Given the description of an element on the screen output the (x, y) to click on. 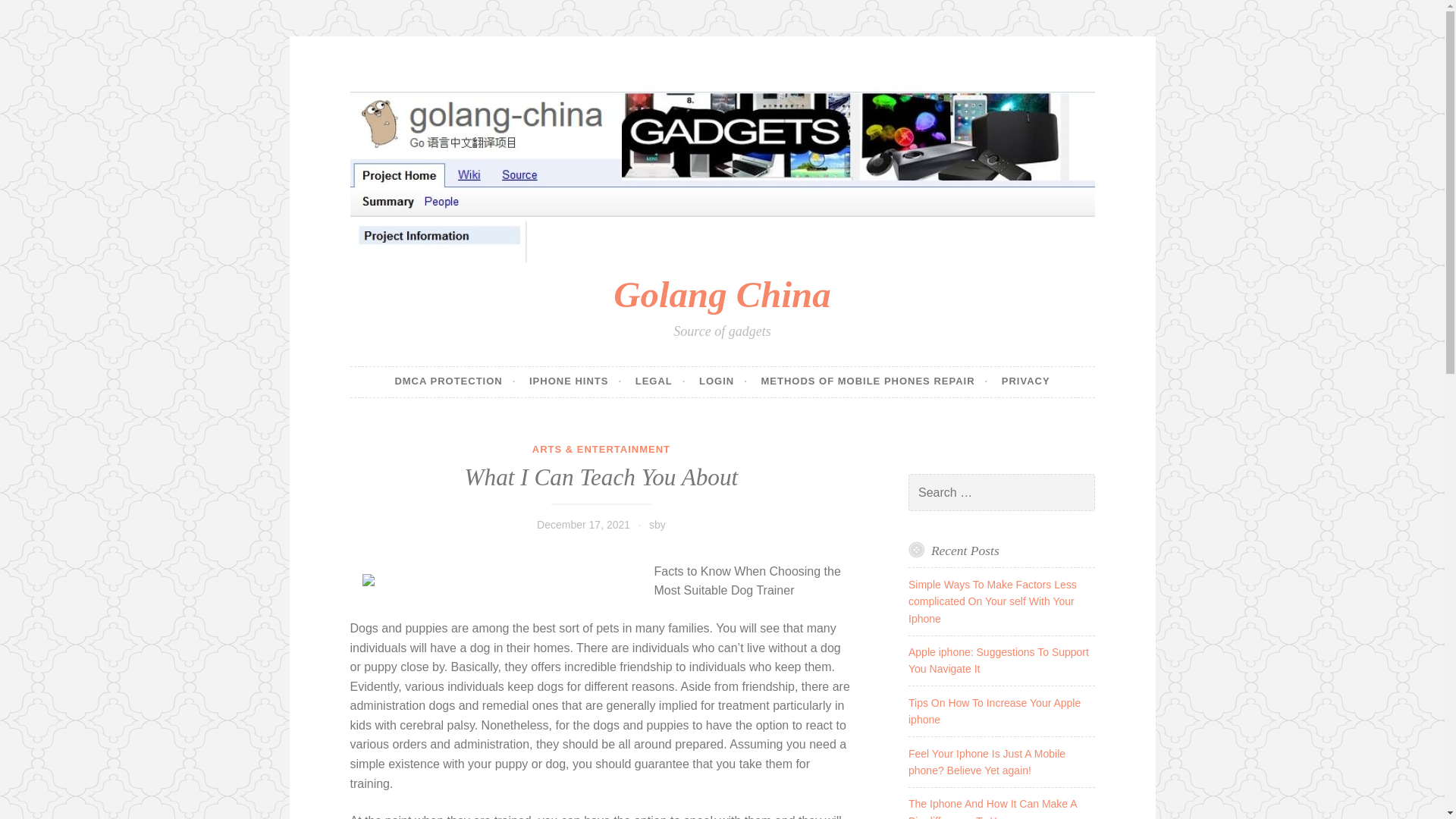
IPHONE HINTS (575, 381)
PRIVACY (1025, 381)
Search (33, 13)
DMCA PROTECTION (454, 381)
December 17, 2021 (583, 524)
sby (657, 524)
LOGIN (723, 381)
Feel Your Iphone Is Just A Mobile phone? Believe Yet again! (986, 761)
Golang China (720, 294)
Tips On How To Increase Your Apple iphone (994, 710)
Apple iphone: Suggestions To Support You Navigate It (998, 660)
LEGAL (659, 381)
METHODS OF MOBILE PHONES REPAIR (874, 381)
